Given the description of an element on the screen output the (x, y) to click on. 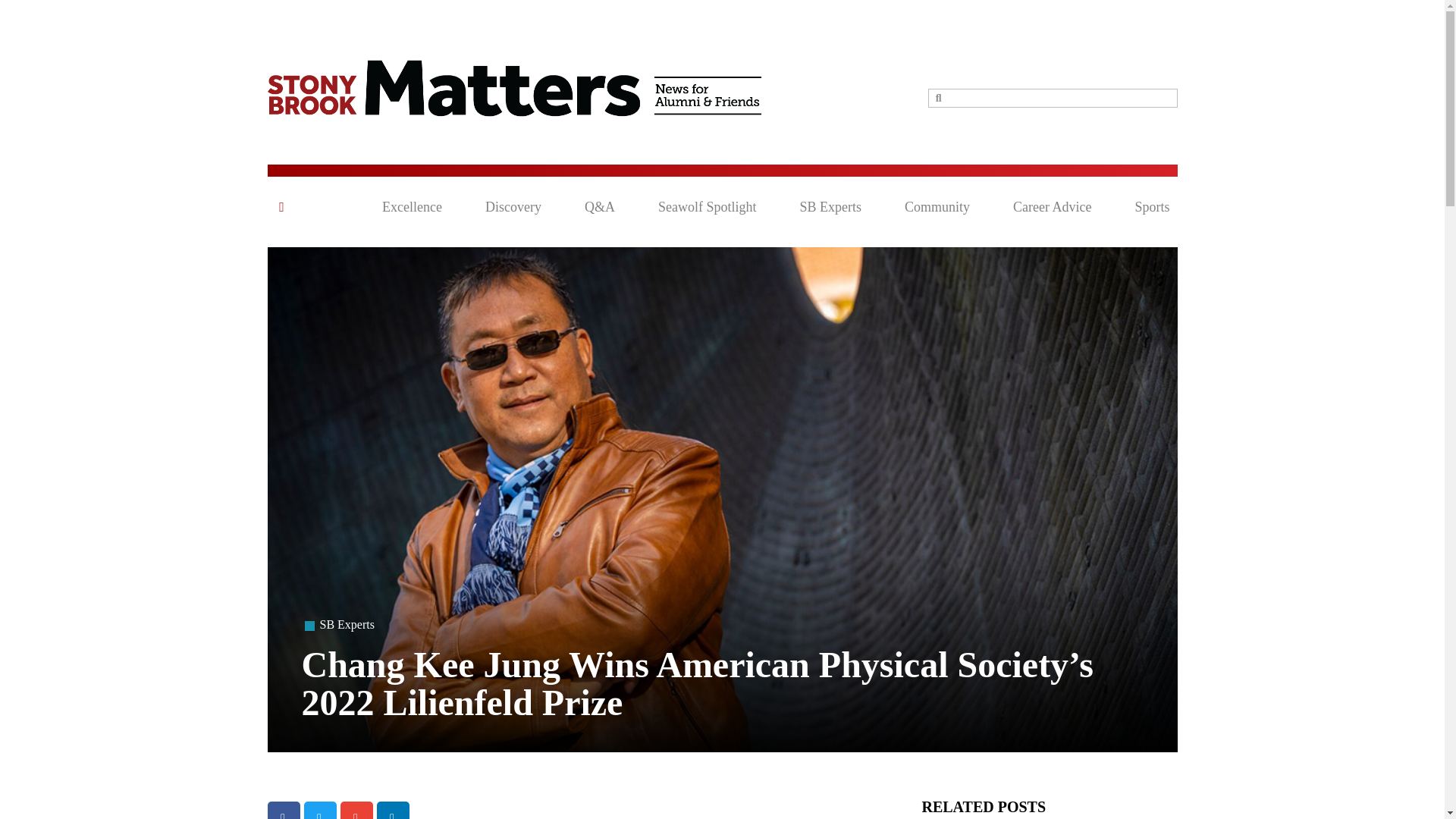
Career Advice (1051, 206)
SB Experts (347, 624)
Seawolf Spotlight (707, 206)
Discovery (512, 206)
SB Experts (830, 206)
Sports (1151, 206)
Excellence (411, 206)
Community (936, 206)
